Given the description of an element on the screen output the (x, y) to click on. 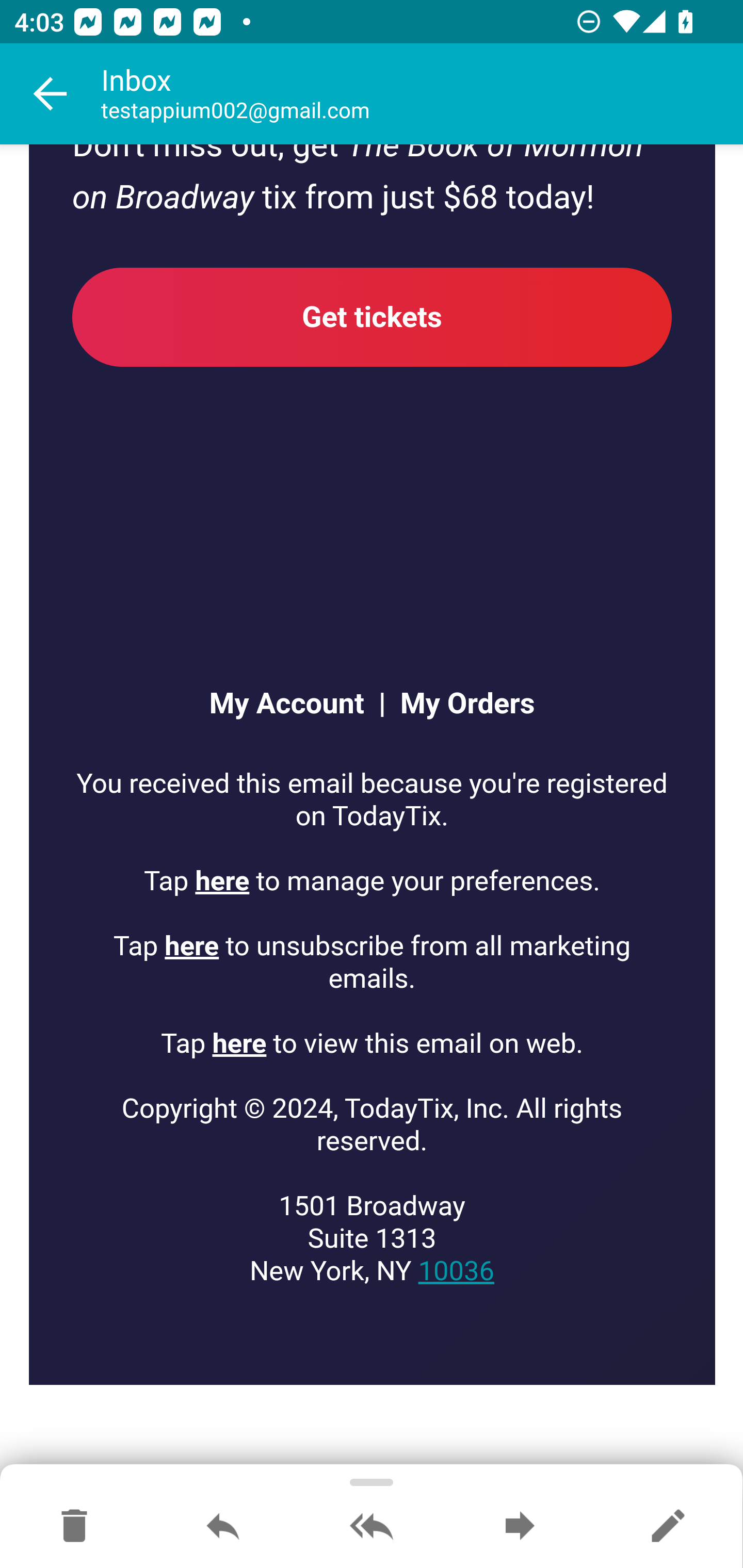
Navigate up (50, 93)
Inbox testappium002@gmail.com (422, 93)
Get tickets (372, 317)
My Account  | (296, 704)
  My Orders (460, 704)
here (222, 880)
here (192, 946)
here (239, 1044)
10036 (455, 1271)
Move to Deleted (74, 1527)
Reply (222, 1527)
Reply all (371, 1527)
Forward (519, 1527)
Reply as new (667, 1527)
